Given the description of an element on the screen output the (x, y) to click on. 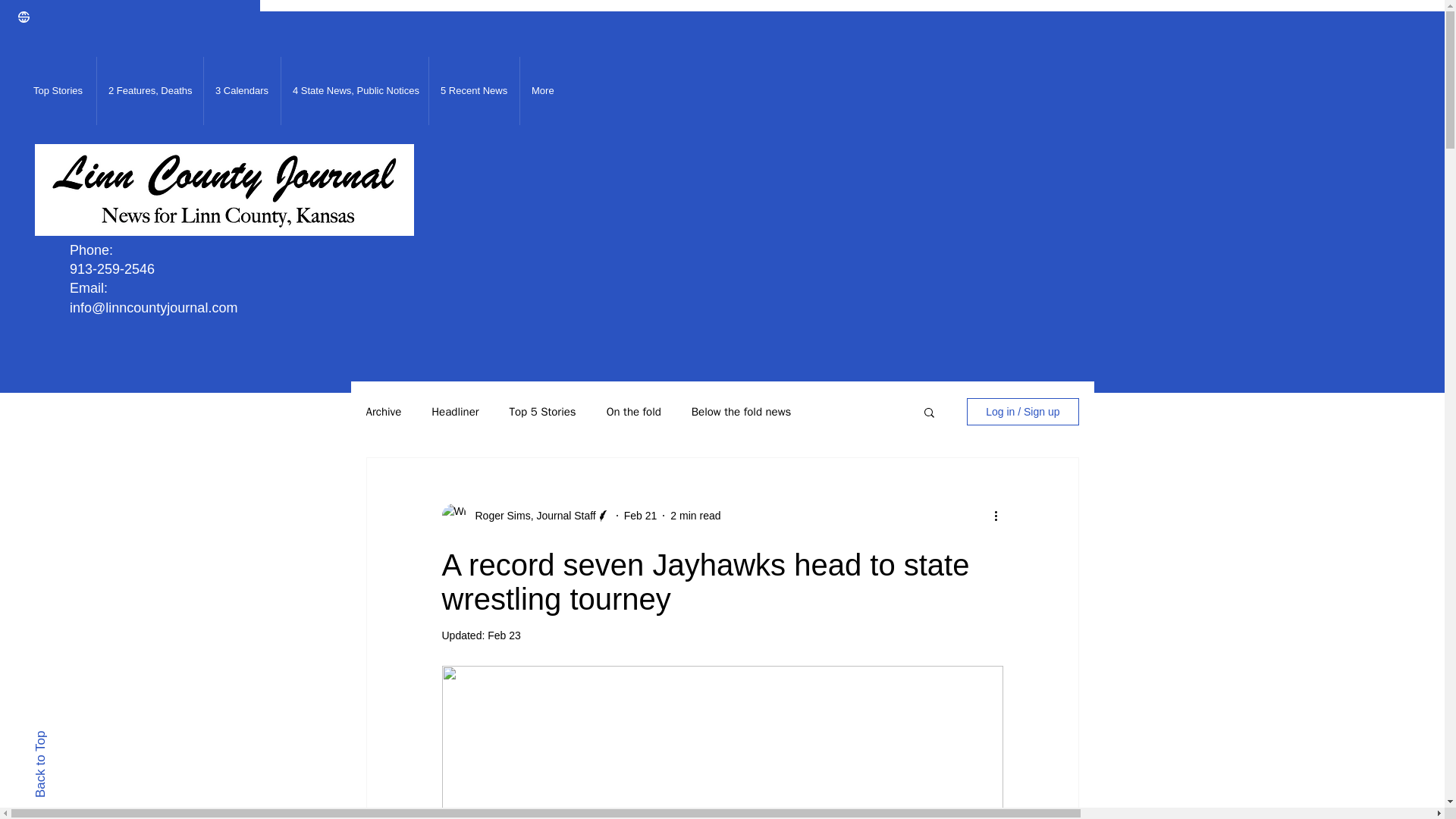
Feb 21 (641, 515)
Below the fold news (741, 411)
Headliner (454, 411)
Roger Sims, Journal Staff (530, 515)
Top 5 Stories (542, 411)
Top Stories (58, 90)
Feb 23 (504, 635)
4 State News, Public Notices (354, 90)
3 Calendars (242, 90)
On the fold (634, 411)
